Given the description of an element on the screen output the (x, y) to click on. 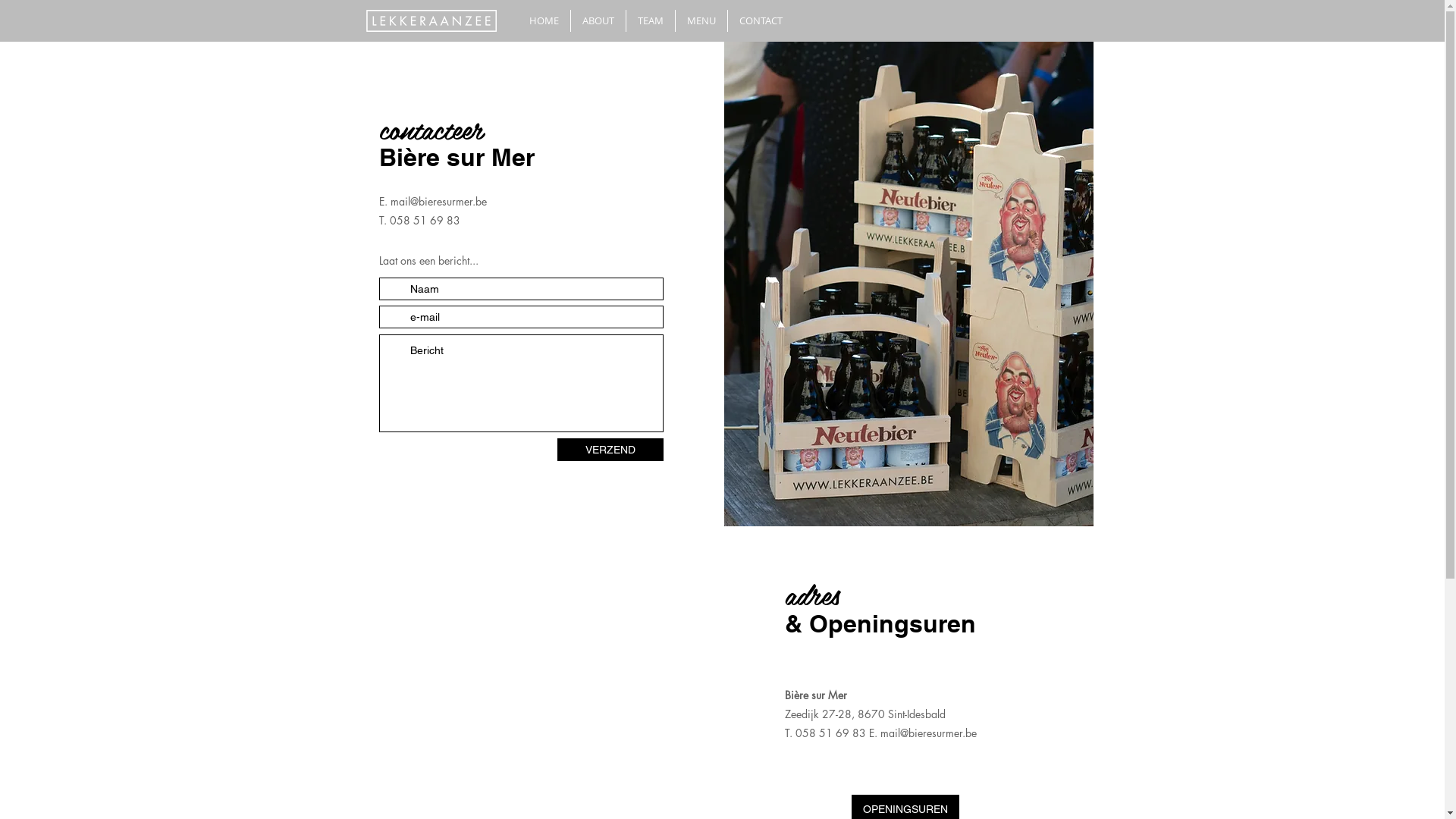
mail@bieresurmer.be Element type: text (927, 732)
HOME Element type: text (543, 20)
ABOUT Element type: text (597, 20)
TEAM Element type: text (650, 20)
MENU Element type: text (700, 20)
mail@bieresurmer.be Element type: text (437, 201)
VERZEND Element type: text (609, 449)
CONTACT Element type: text (760, 20)
